Given the description of an element on the screen output the (x, y) to click on. 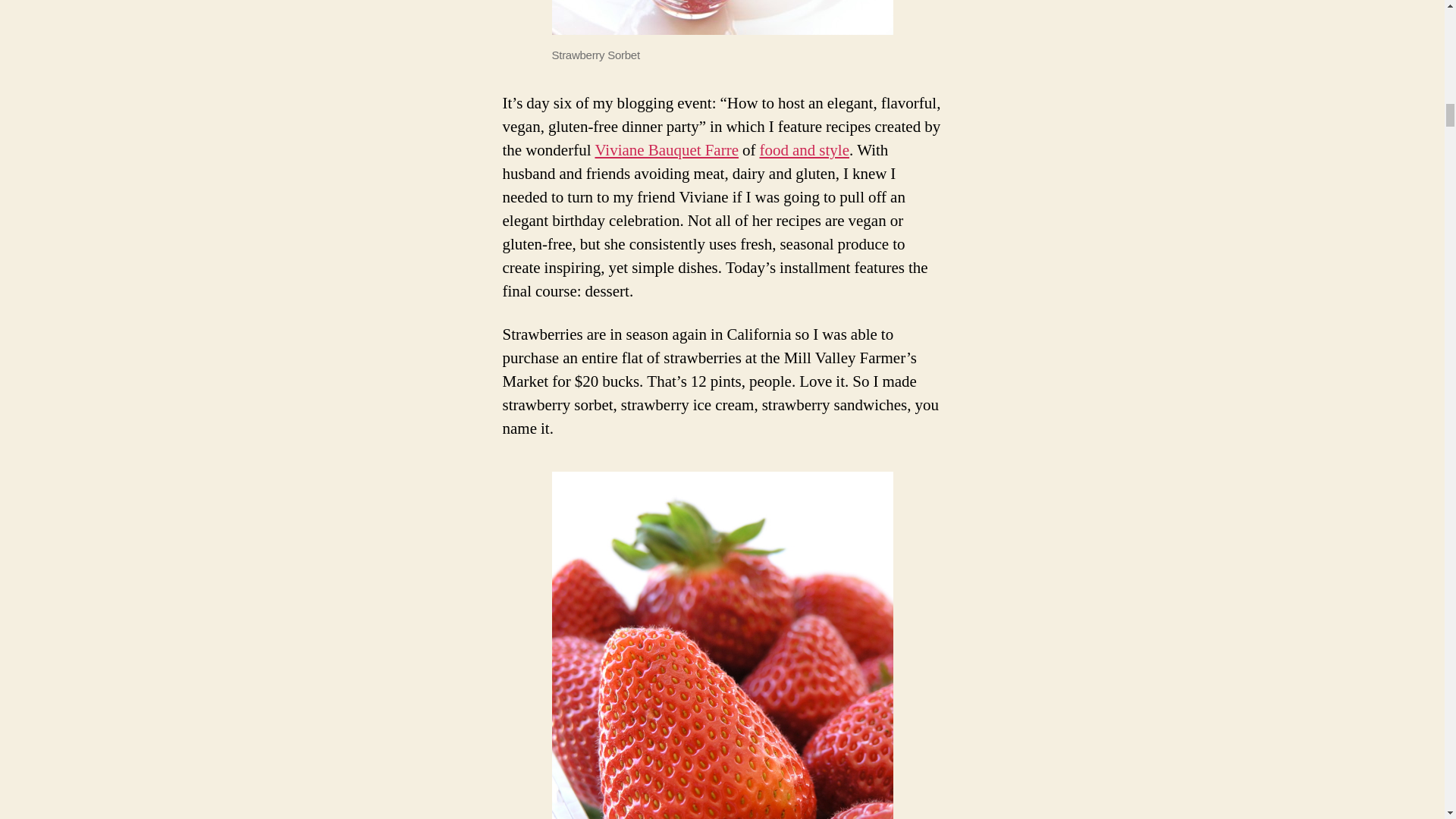
P8053469 (722, 645)
P4235210 (722, 17)
